Given the description of an element on the screen output the (x, y) to click on. 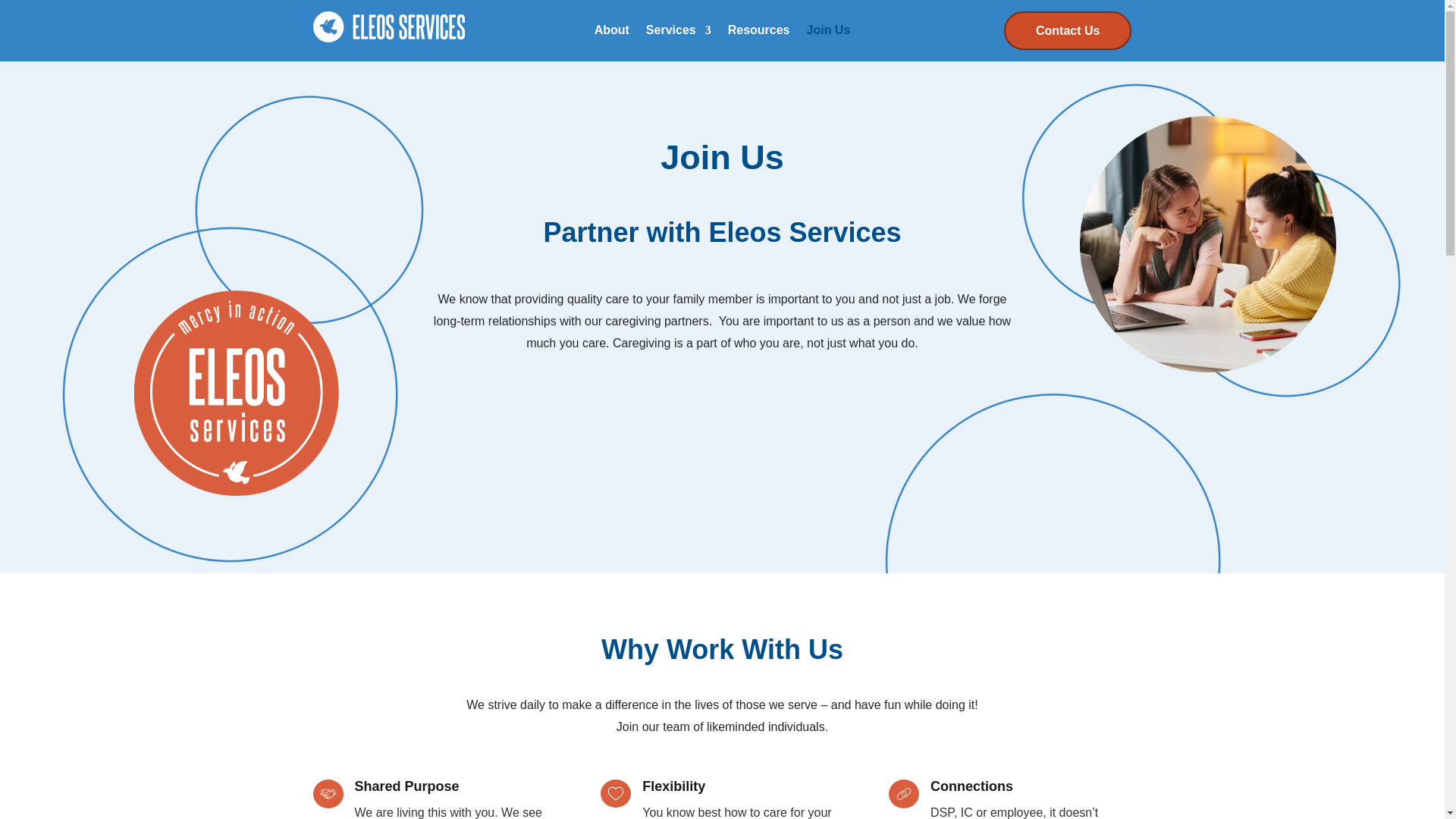
Resources (759, 33)
Contact Us (1067, 30)
Services (678, 33)
Join Us (828, 33)
About (611, 33)
